Given the description of an element on the screen output the (x, y) to click on. 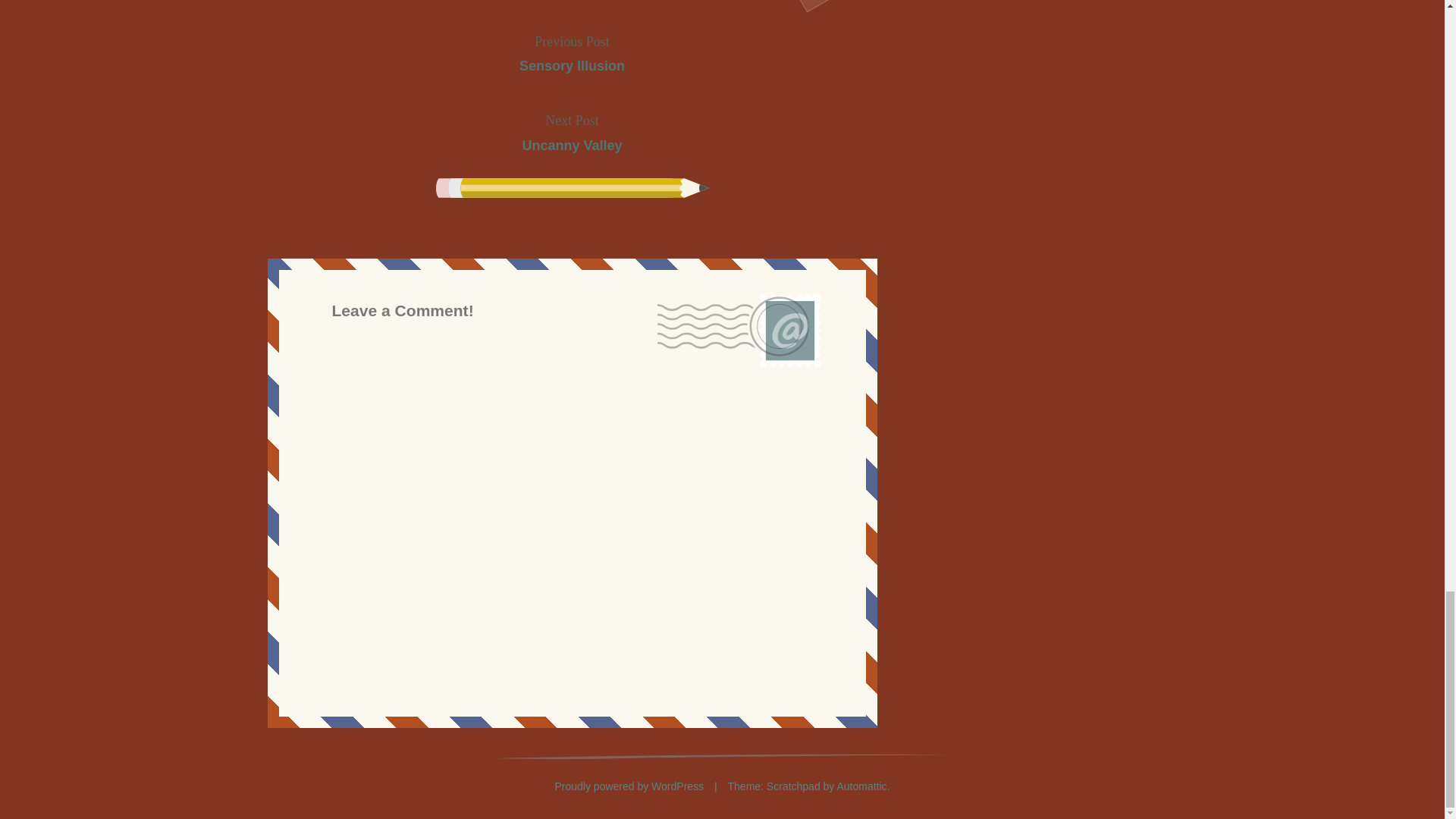
Comment Form (571, 53)
